Given the description of an element on the screen output the (x, y) to click on. 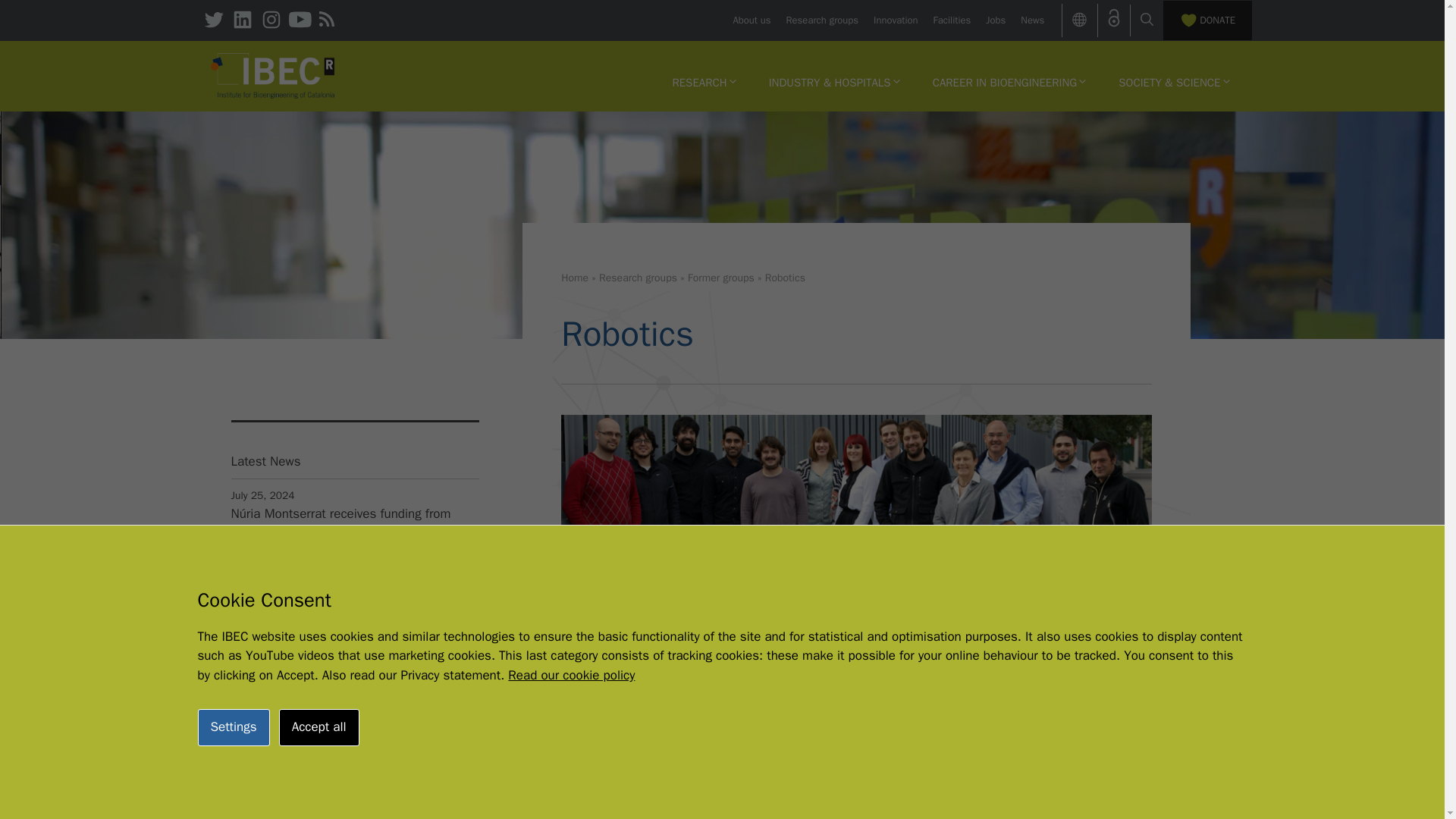
News (1031, 19)
Jobs (995, 19)
Institute for Bioengineering of Catalonia (272, 75)
Innovation (895, 19)
Institute for Bioengineering of Catalonia (272, 74)
DONATE (1207, 20)
Research groups (822, 19)
RESEARCH (704, 81)
Facilities (952, 19)
About us (751, 19)
